Given the description of an element on the screen output the (x, y) to click on. 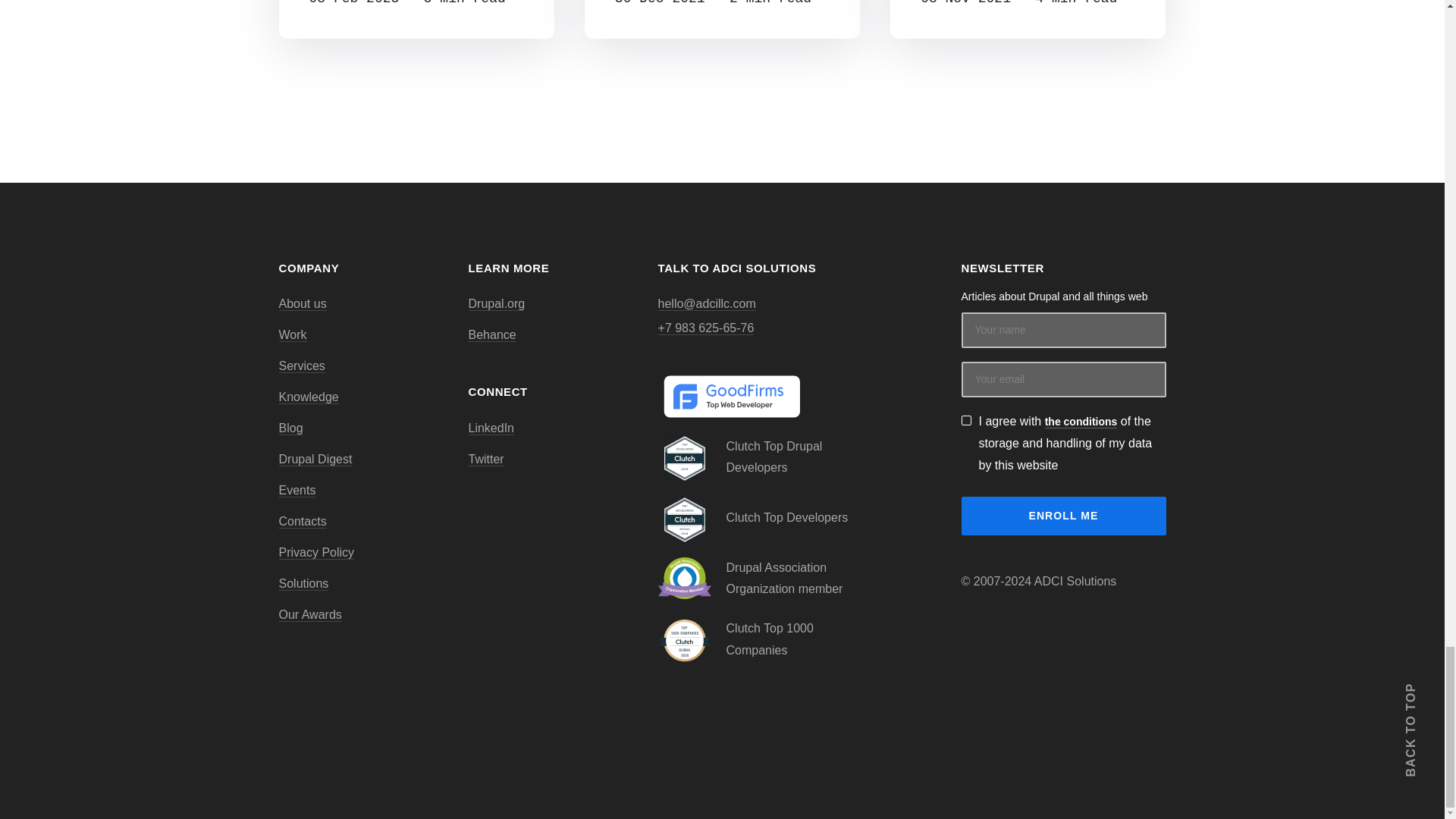
Events (297, 490)
Drupal Digest (315, 459)
Blog (290, 427)
About us (302, 304)
Work (293, 335)
Privacy Policy (317, 552)
Knowledge (309, 397)
Solutions (304, 583)
Contacts (302, 521)
Services (301, 366)
